Given the description of an element on the screen output the (x, y) to click on. 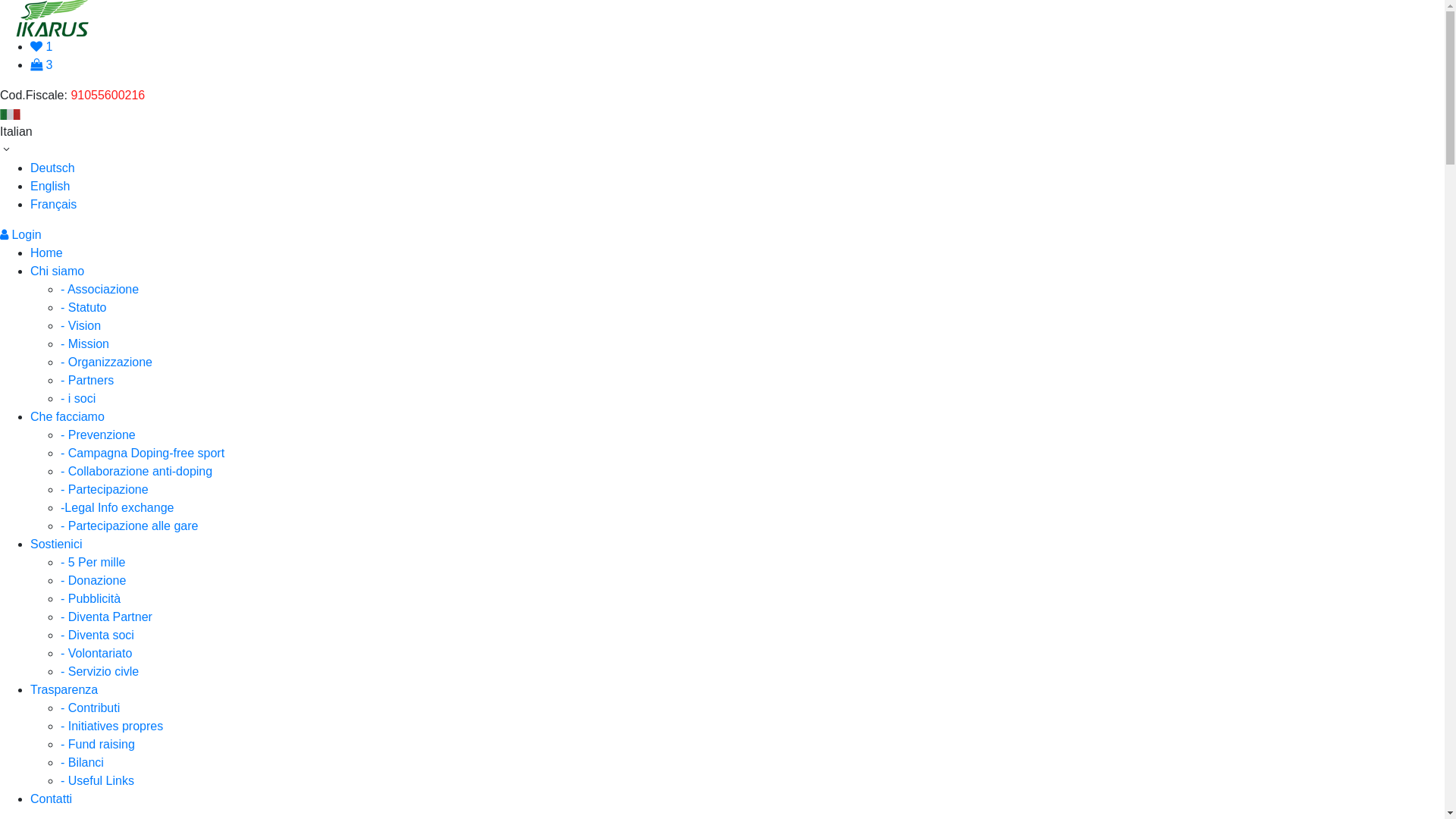
English Element type: text (49, 185)
- i soci Element type: text (77, 398)
- Collaborazione anti-doping Element type: text (136, 470)
3 Element type: text (41, 64)
- Donazione Element type: text (92, 580)
- Initiatives propres Element type: text (111, 725)
- Fund raising Element type: text (97, 743)
Trasparenza Element type: text (63, 689)
- Contributi Element type: text (89, 707)
- 5 Per mille Element type: text (92, 561)
- Campagna Doping-free sport Element type: text (142, 452)
- Diventa soci Element type: text (97, 634)
- Useful Links Element type: text (97, 780)
-Legal Info exchange Element type: text (116, 507)
- Partners Element type: text (86, 379)
- Partecipazione Element type: text (104, 489)
- Partecipazione alle gare Element type: text (128, 525)
Chi siamo Element type: text (57, 270)
Login Element type: text (20, 234)
1 Element type: text (41, 46)
- Diventa Partner Element type: text (106, 616)
- Servizio civle Element type: text (99, 671)
- Prevenzione Element type: text (97, 434)
- Organizzazione Element type: text (106, 361)
Contatti Element type: text (51, 798)
- Vision Element type: text (80, 325)
- Mission Element type: text (84, 343)
Sostienici Element type: text (55, 543)
- Associazione Element type: text (99, 288)
- Bilanci Element type: text (81, 762)
- Statuto Element type: text (83, 307)
Che facciamo Element type: text (67, 416)
- Volontariato Element type: text (95, 652)
Home Element type: text (46, 252)
Deutsch Element type: text (52, 167)
